Given the description of an element on the screen output the (x, y) to click on. 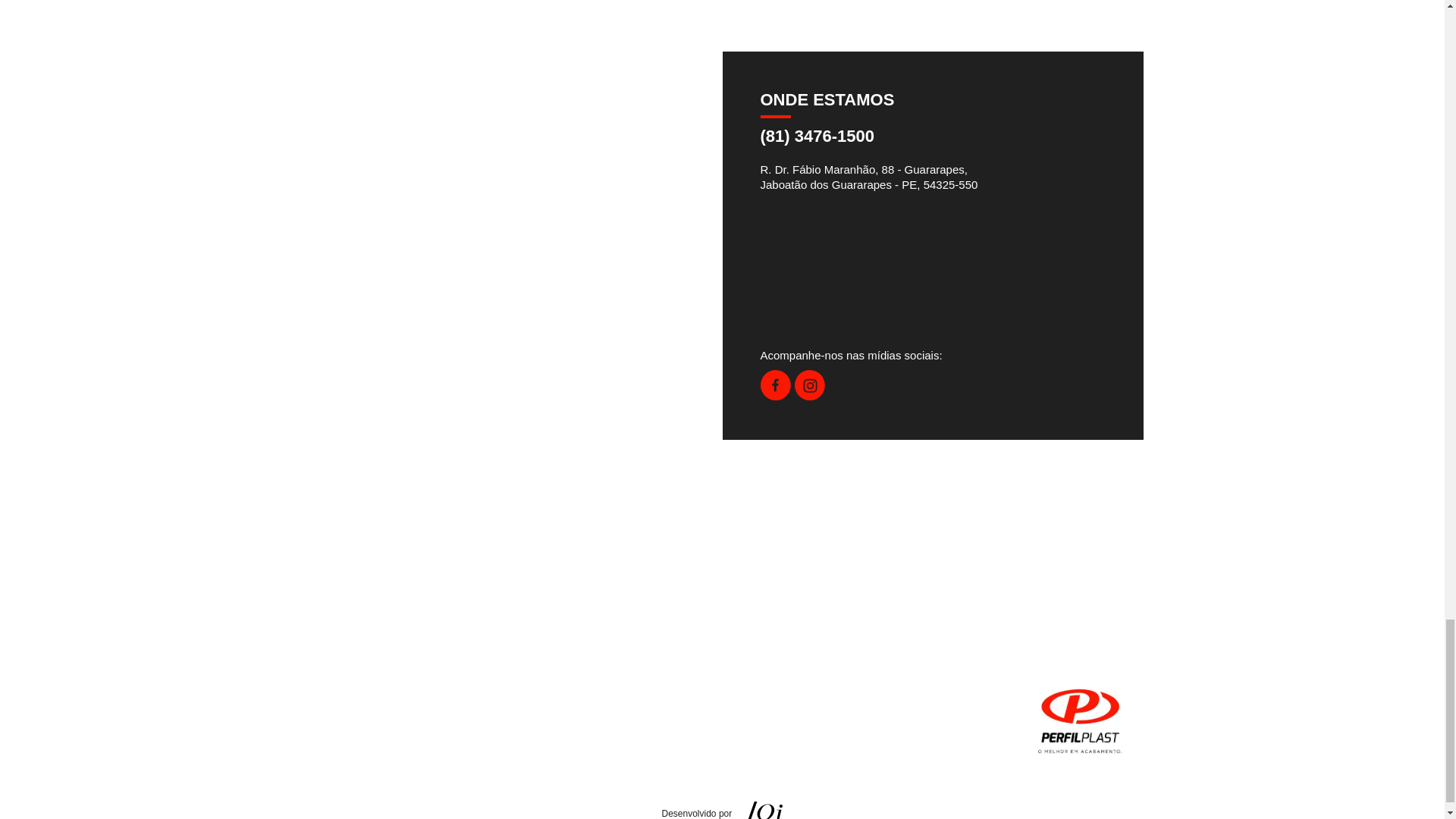
Facebook (775, 395)
Instagram (809, 395)
